Given the description of an element on the screen output the (x, y) to click on. 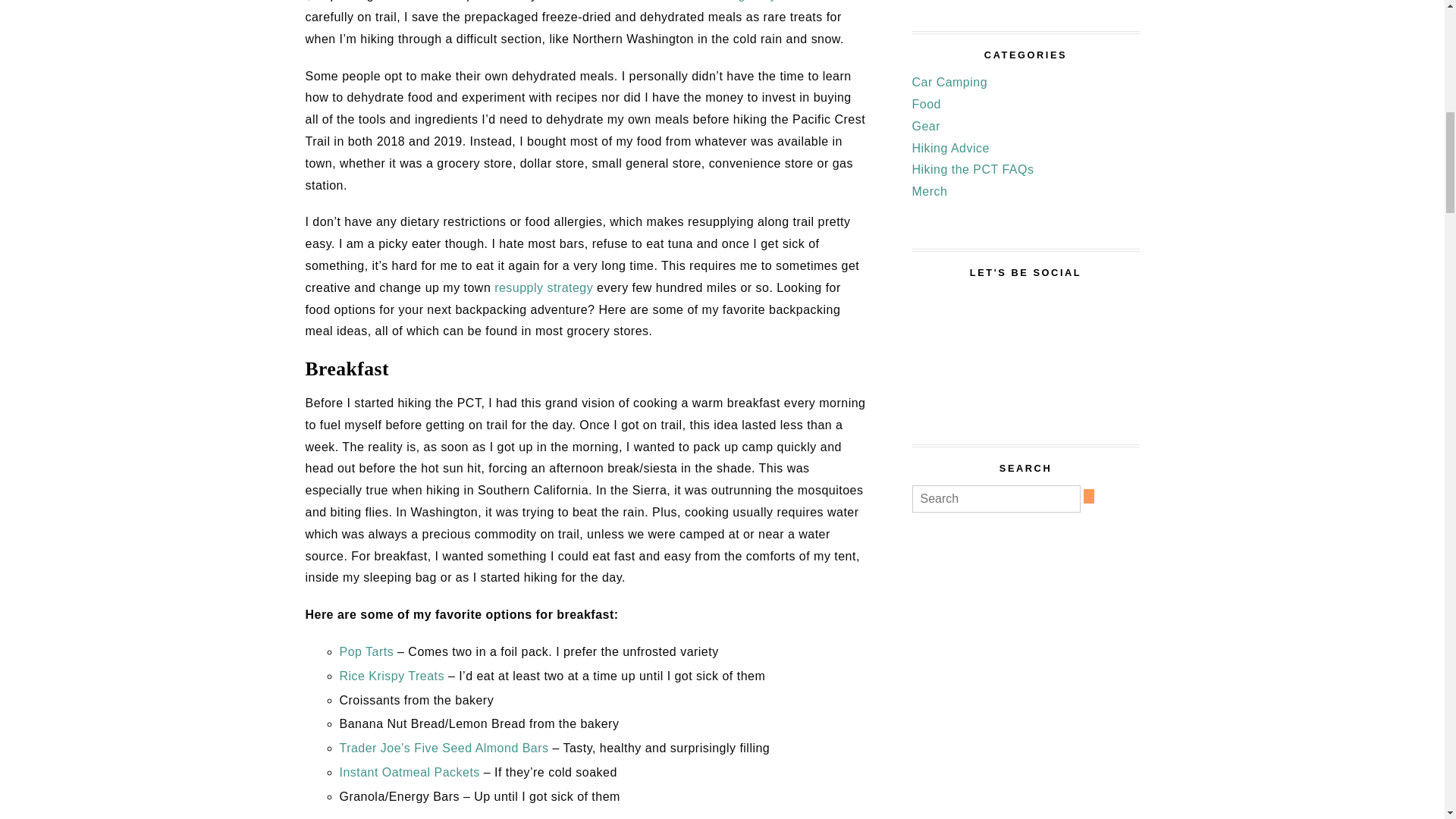
Rice Krispy Treats (391, 675)
Pop Tarts (366, 651)
resupply strategy (543, 287)
Instant Oatmeal Packets (409, 771)
budget my food costs (778, 0)
Mountain House (586, 0)
